Given the description of an element on the screen output the (x, y) to click on. 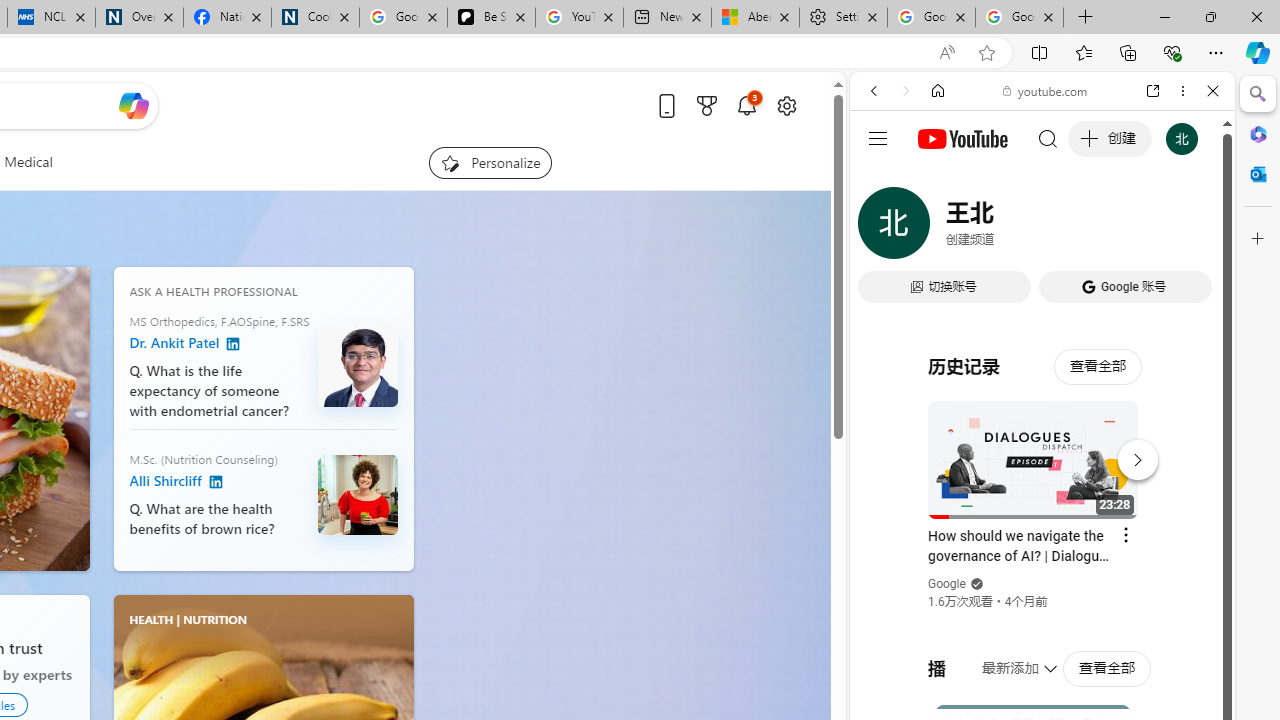
Class: b_serphb (1190, 229)
Web scope (882, 180)
Search Filter, IMAGES (939, 228)
Search Filter, WEB (882, 228)
Search Filter, VIDEOS (1006, 228)
YouTube (1034, 296)
Notifications (746, 105)
